Given the description of an element on the screen output the (x, y) to click on. 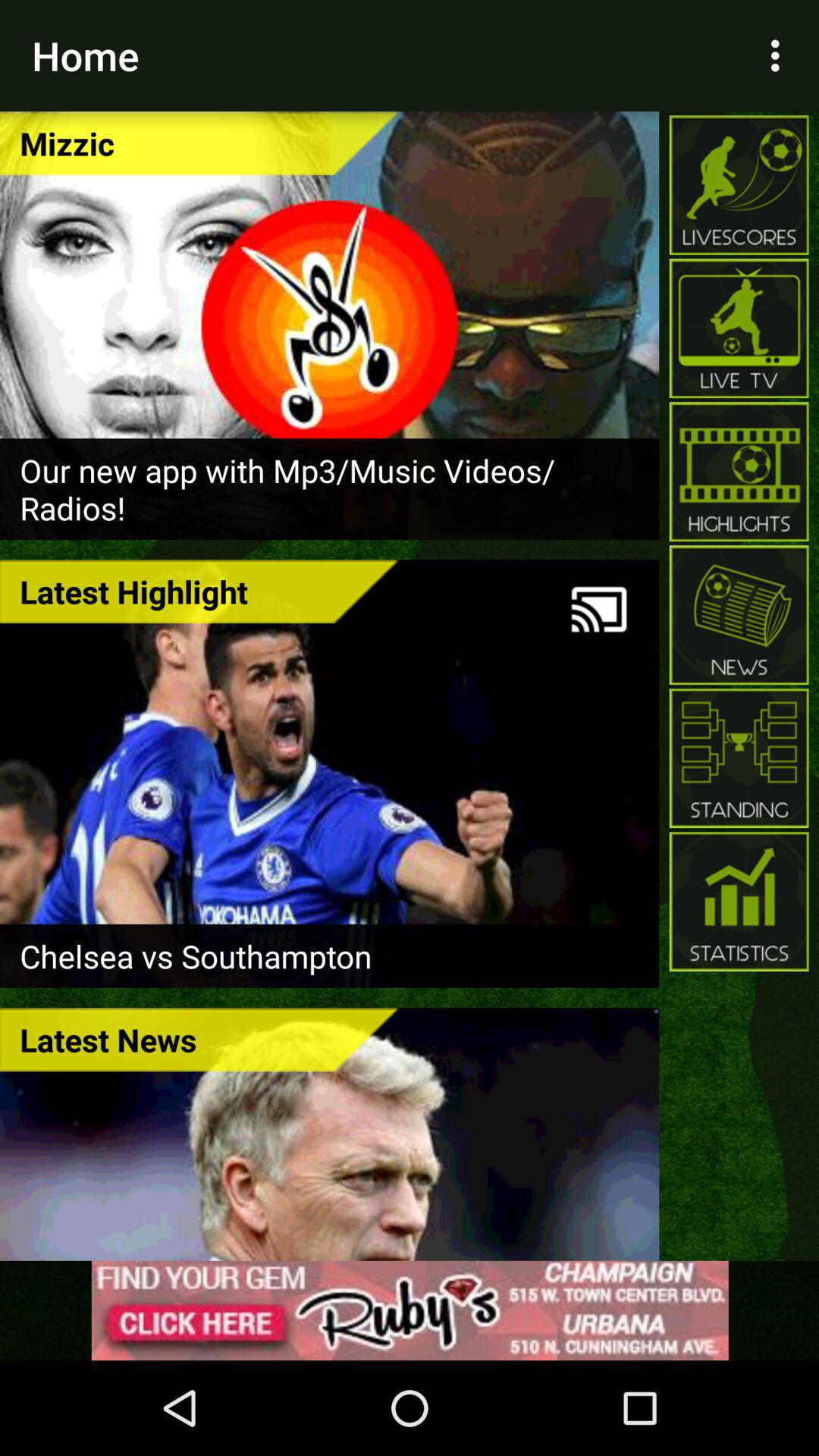
turn off latest news icon (199, 1039)
